Given the description of an element on the screen output the (x, y) to click on. 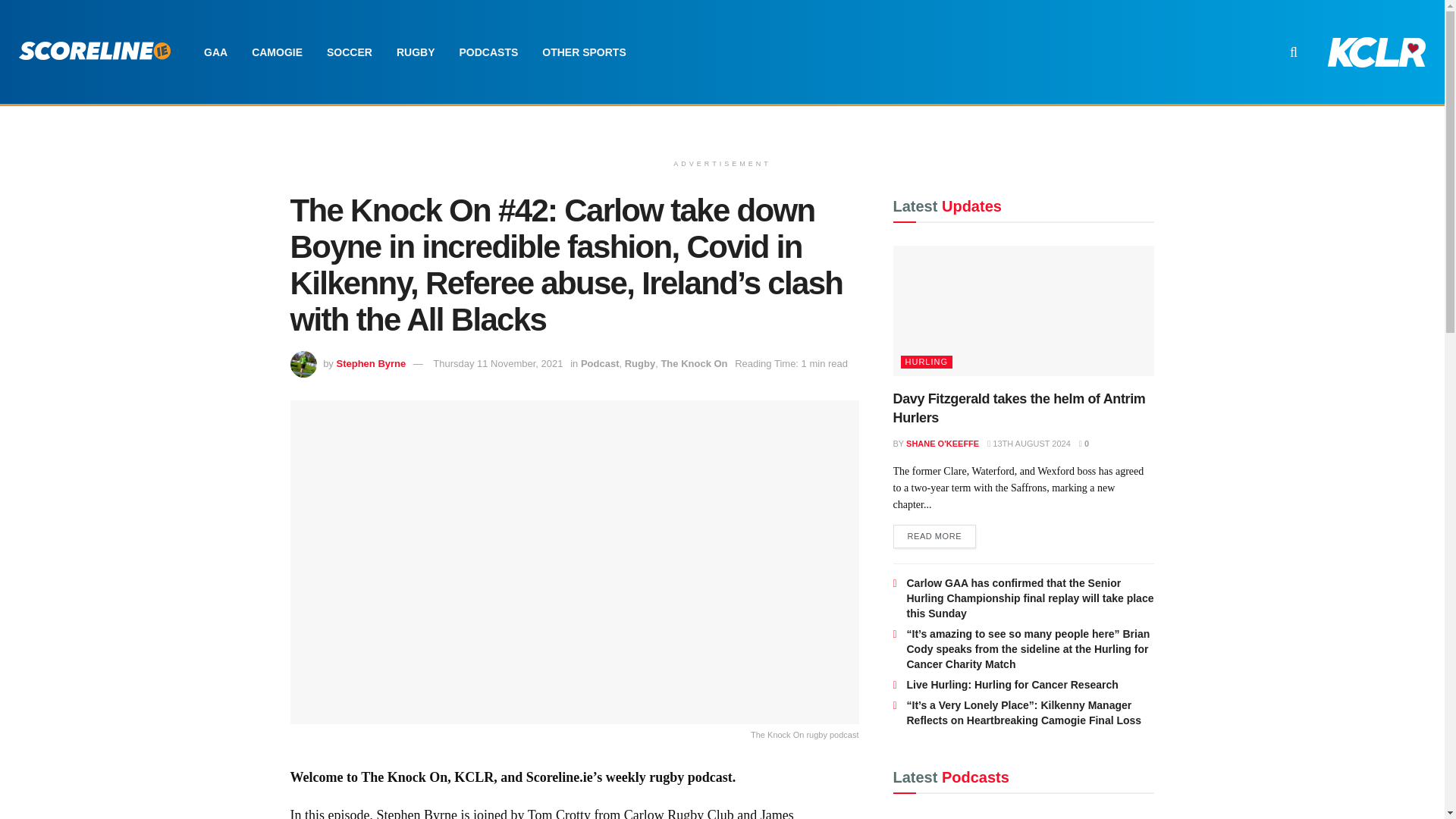
Thursday 11 November, 2021 (497, 363)
OTHER SPORTS (583, 52)
PODCASTS (487, 52)
HURLING (927, 361)
Podcast (600, 363)
Rugby (639, 363)
0 (1083, 442)
HURLING (914, 818)
Stephen Byrne (371, 363)
